Given the description of an element on the screen output the (x, y) to click on. 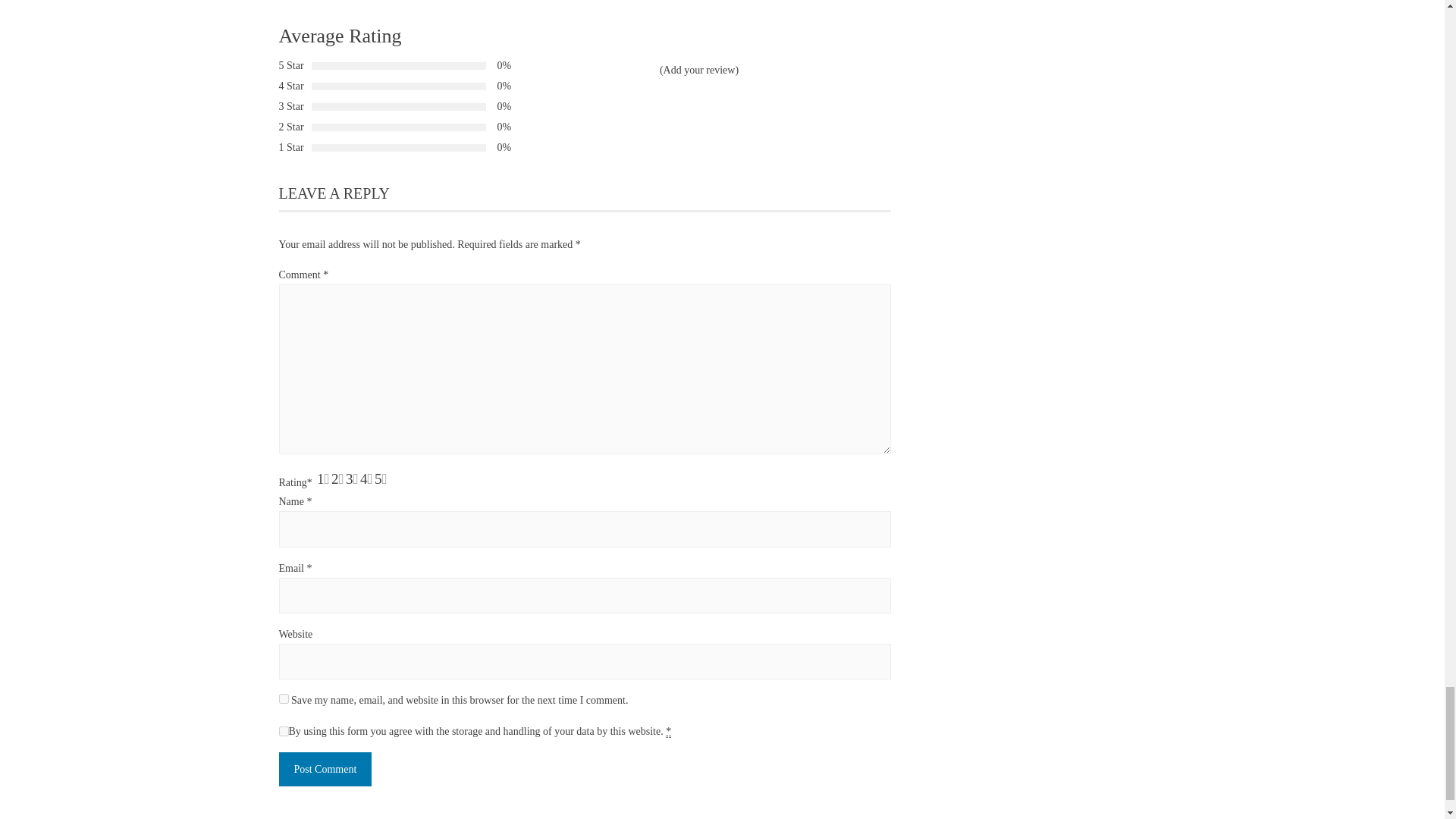
Post Comment (325, 769)
yes (283, 698)
